Given the description of an element on the screen output the (x, y) to click on. 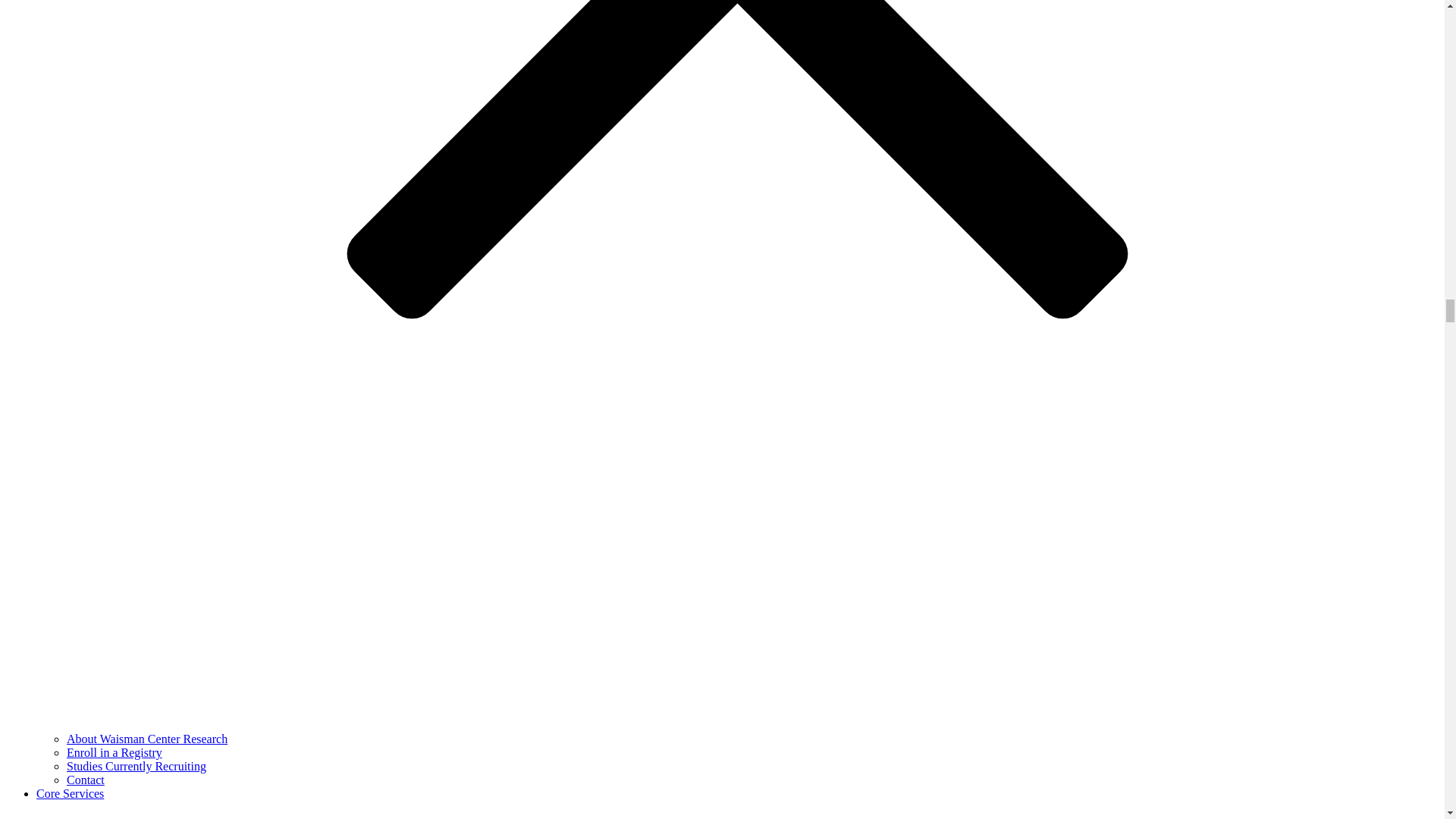
Studies Currently Recruiting (136, 766)
Enroll in a Registry (113, 752)
About Waisman Center Research (146, 738)
